Given the description of an element on the screen output the (x, y) to click on. 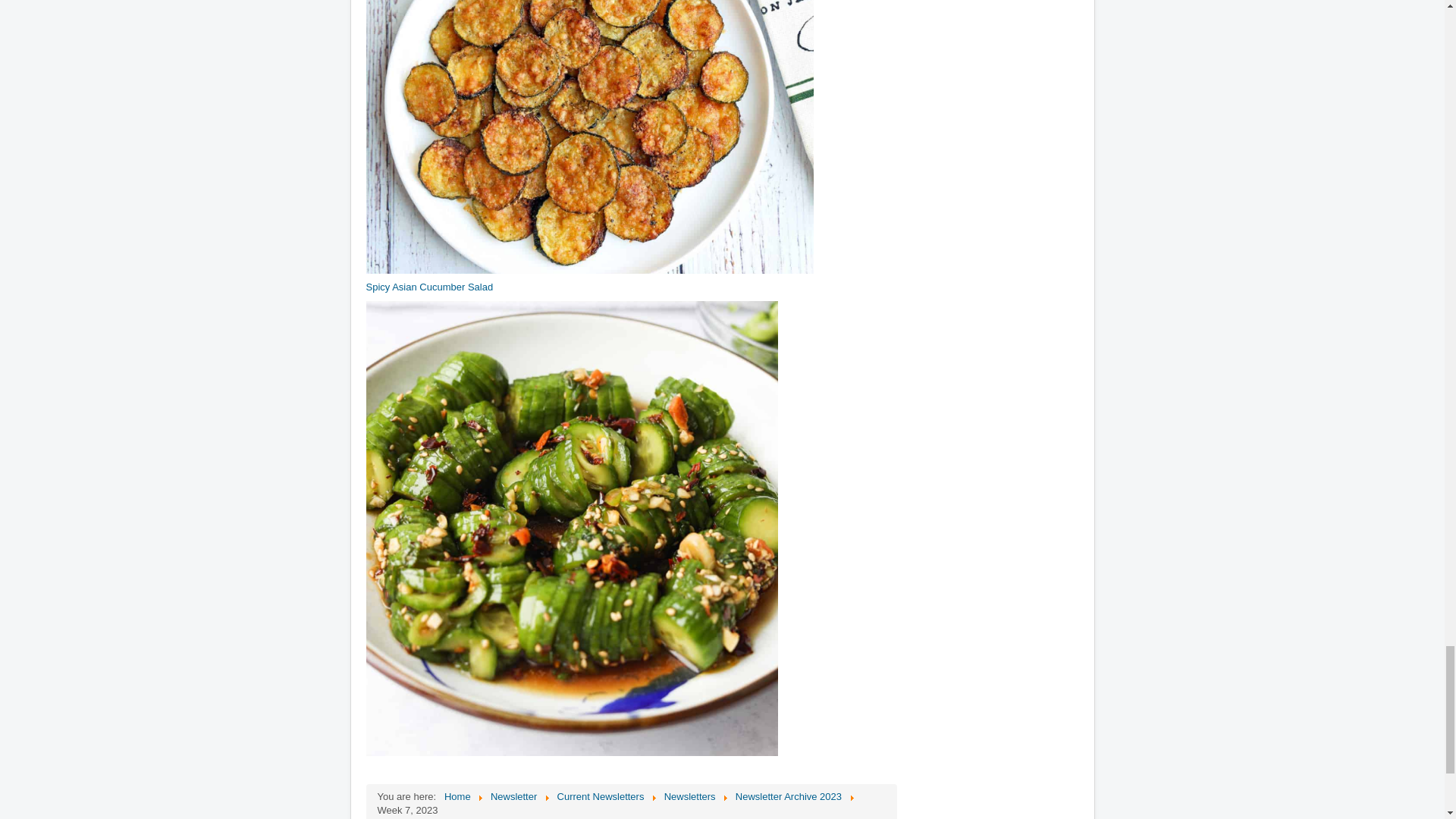
Current Newsletters (601, 796)
Home (457, 796)
Newsletter Archive 2023 (788, 796)
Newsletters (689, 796)
Newsletter (513, 796)
Spicy Asian Cucumber Salad (429, 286)
